Given the description of an element on the screen output the (x, y) to click on. 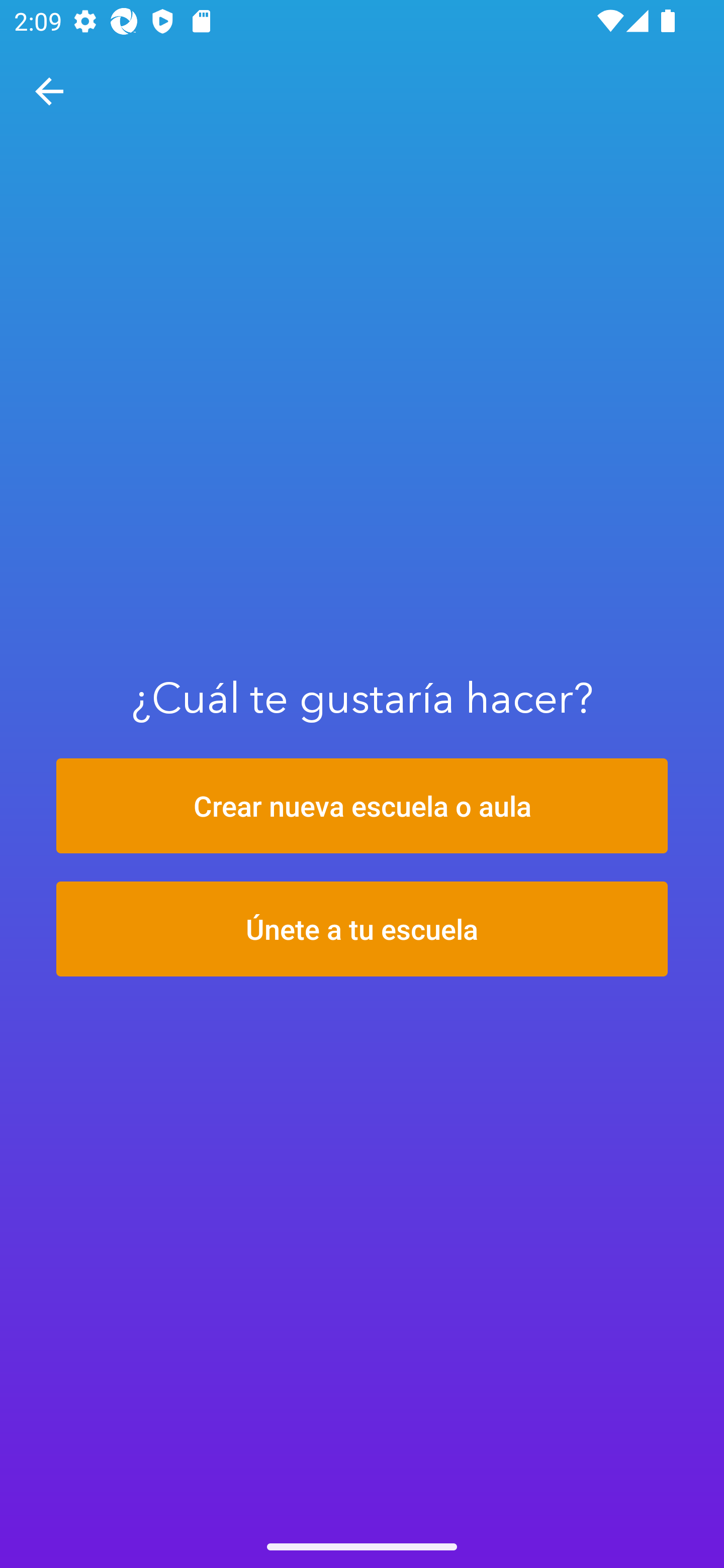
Navegar hacia arriba (49, 91)
Crear nueva escuela o aula (361, 805)
Únete a tu escuela (361, 928)
